Given the description of an element on the screen output the (x, y) to click on. 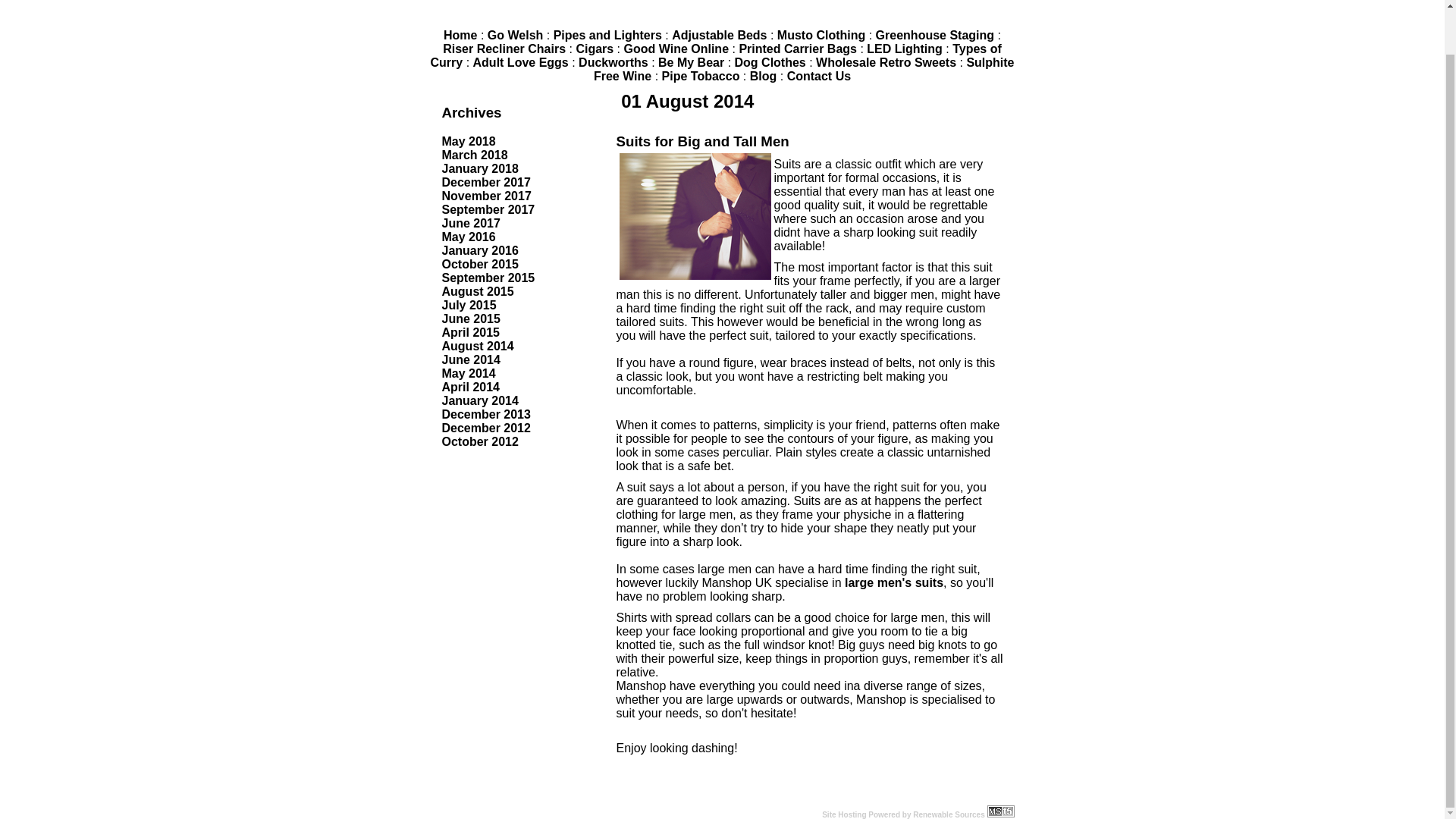
Adult Love Eggs (521, 62)
June 2015 (470, 318)
Blog (763, 75)
Riser Recliner Chairs (504, 48)
Large Men's Suits (893, 582)
July 2015 (468, 305)
March 2018 (473, 154)
Good Wine Online (676, 48)
Adjustable Beds (719, 34)
Contact Us (818, 75)
January 2018 (479, 168)
Types of Curry (715, 55)
Cigars (593, 48)
September 2017 (487, 209)
LED Lighting (904, 48)
